Given the description of an element on the screen output the (x, y) to click on. 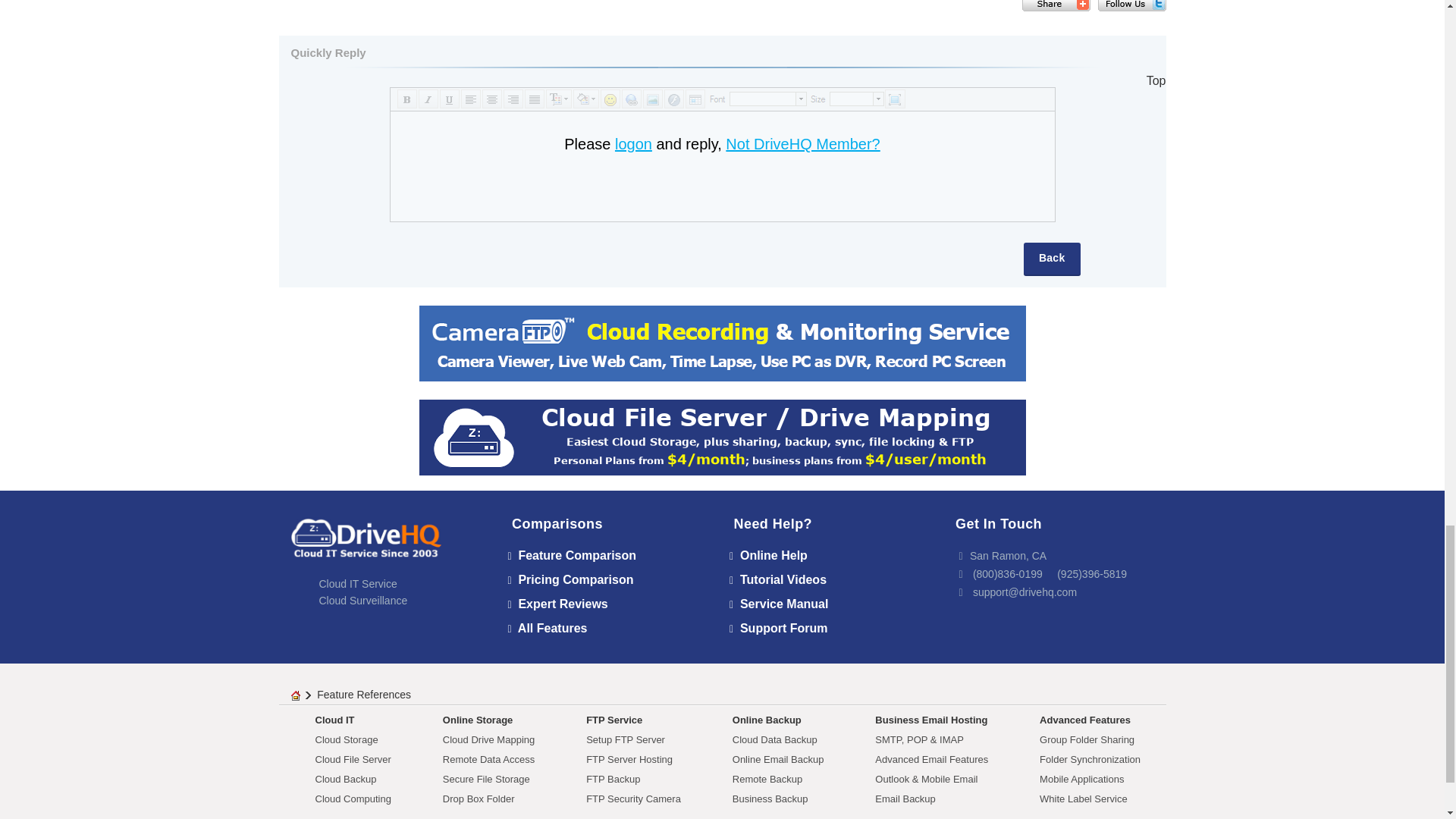
Back (1051, 259)
